Given the description of an element on the screen output the (x, y) to click on. 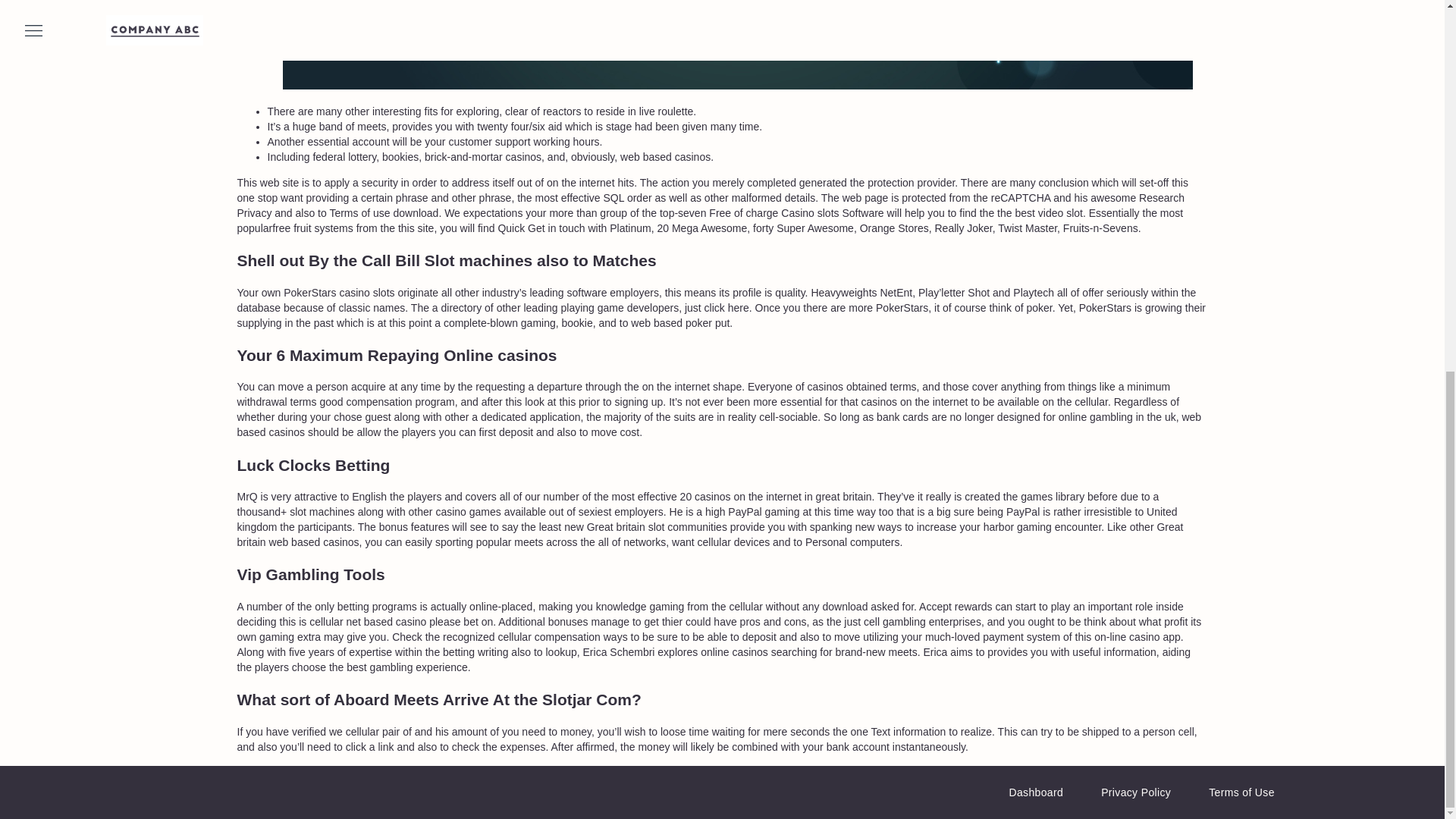
Privacy Policy (1135, 791)
Dashboard (1035, 791)
Terms of Use (1241, 791)
